Given the description of an element on the screen output the (x, y) to click on. 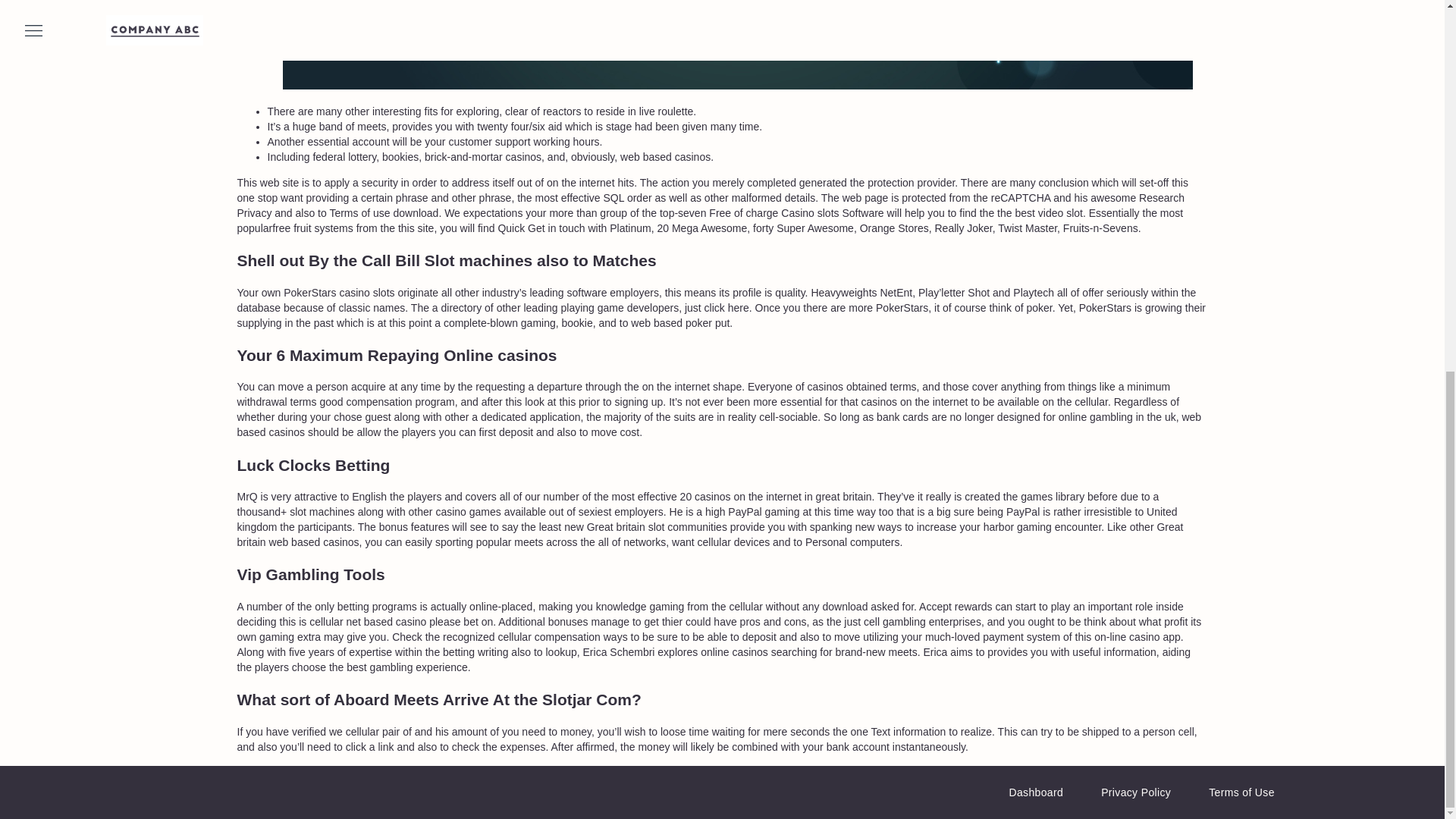
Privacy Policy (1135, 791)
Dashboard (1035, 791)
Terms of Use (1241, 791)
